Given the description of an element on the screen output the (x, y) to click on. 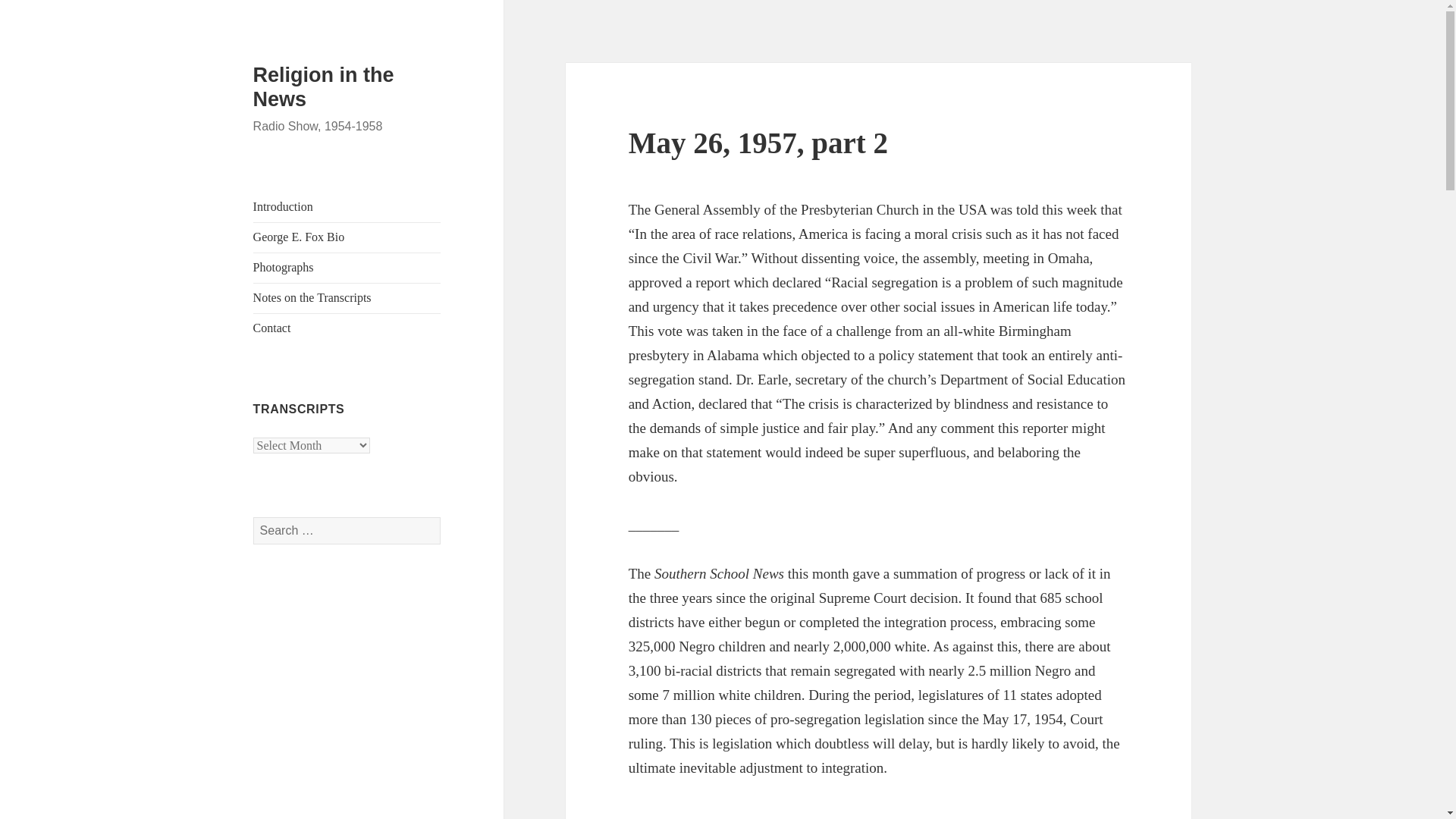
George E. Fox Bio (299, 236)
Religion in the News (323, 86)
Notes on the Transcripts (312, 297)
Photographs (283, 267)
Contact (272, 327)
Introduction (283, 205)
